Given the description of an element on the screen output the (x, y) to click on. 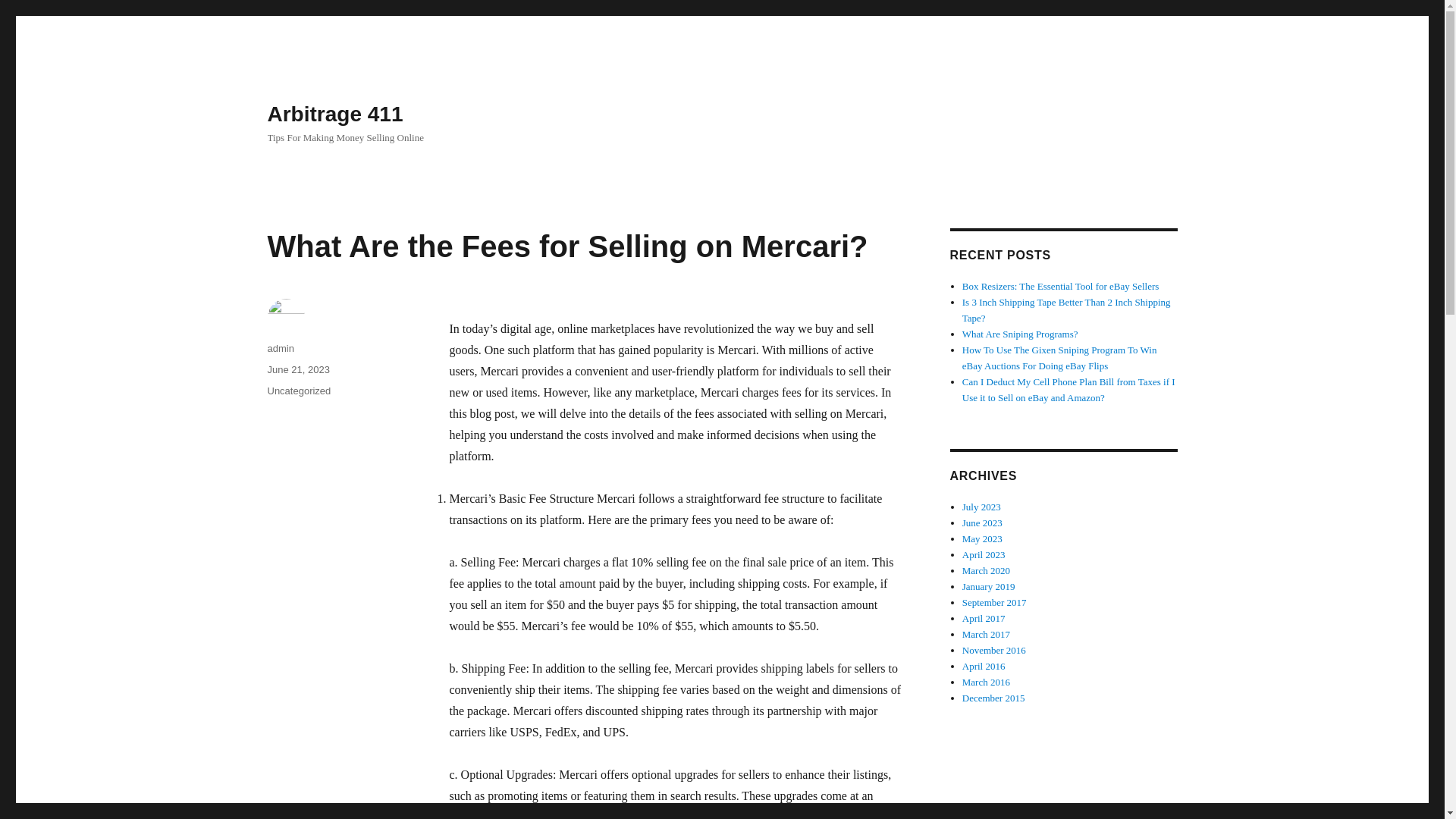
Uncategorized (298, 390)
January 2019 (988, 586)
April 2017 (984, 618)
What Are Sniping Programs? (1020, 333)
Box Resizers: The Essential Tool for eBay Sellers (1060, 285)
July 2023 (981, 506)
Is 3 Inch Shipping Tape Better Than 2 Inch Shipping Tape? (1066, 309)
Arbitrage 411 (334, 114)
September 2017 (994, 602)
December 2015 (993, 697)
June 21, 2023 (297, 369)
May 2023 (982, 538)
March 2016 (986, 681)
March 2020 (986, 570)
